Given the description of an element on the screen output the (x, y) to click on. 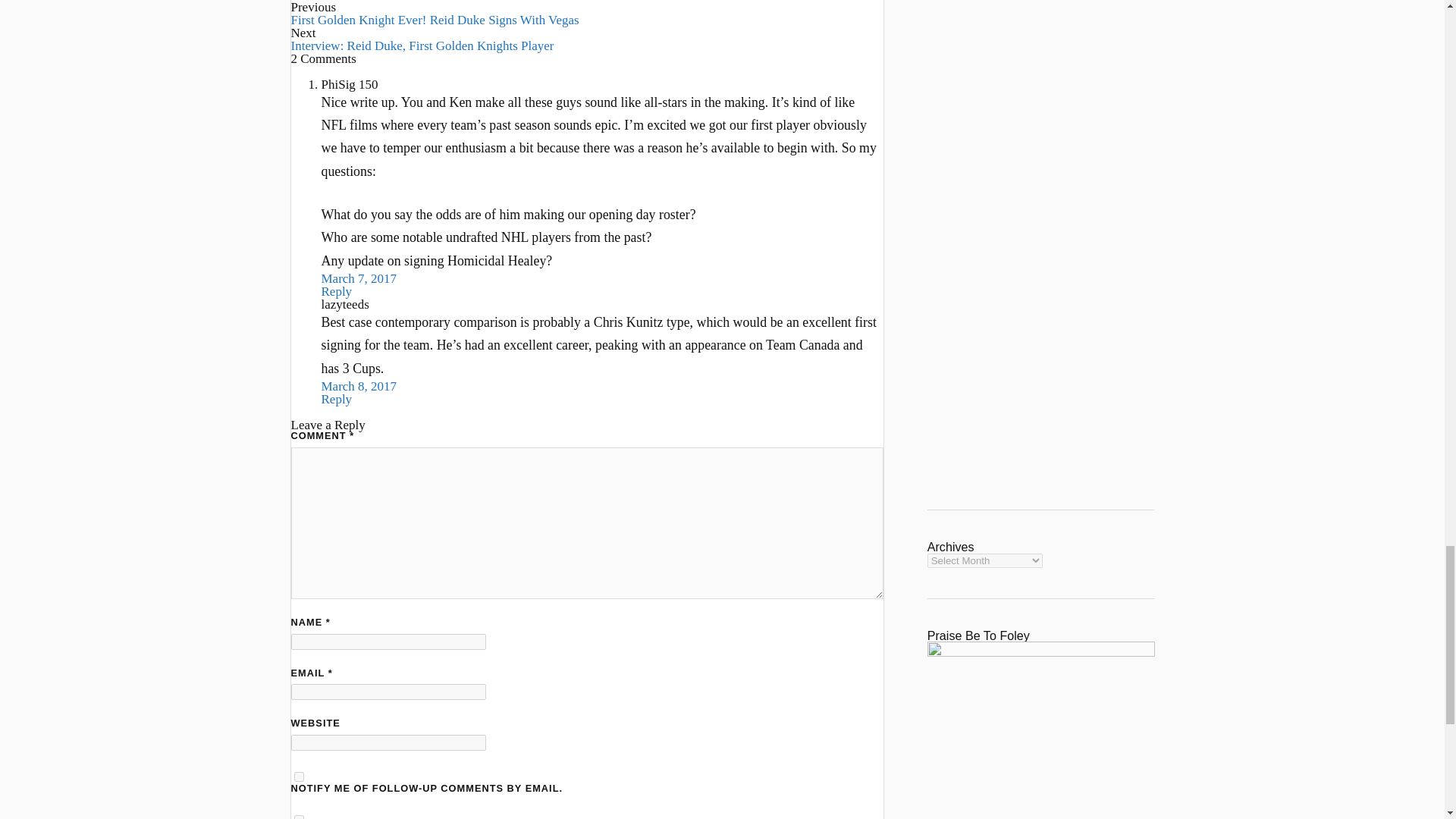
March 7, 2017 at 1:09 PM (359, 278)
subscribe (299, 777)
March 8, 2017 at 5:04 AM (359, 386)
Next post: Interview: Reid Duke, First Golden Knights Player (422, 45)
subscribe (299, 816)
